Given the description of an element on the screen output the (x, y) to click on. 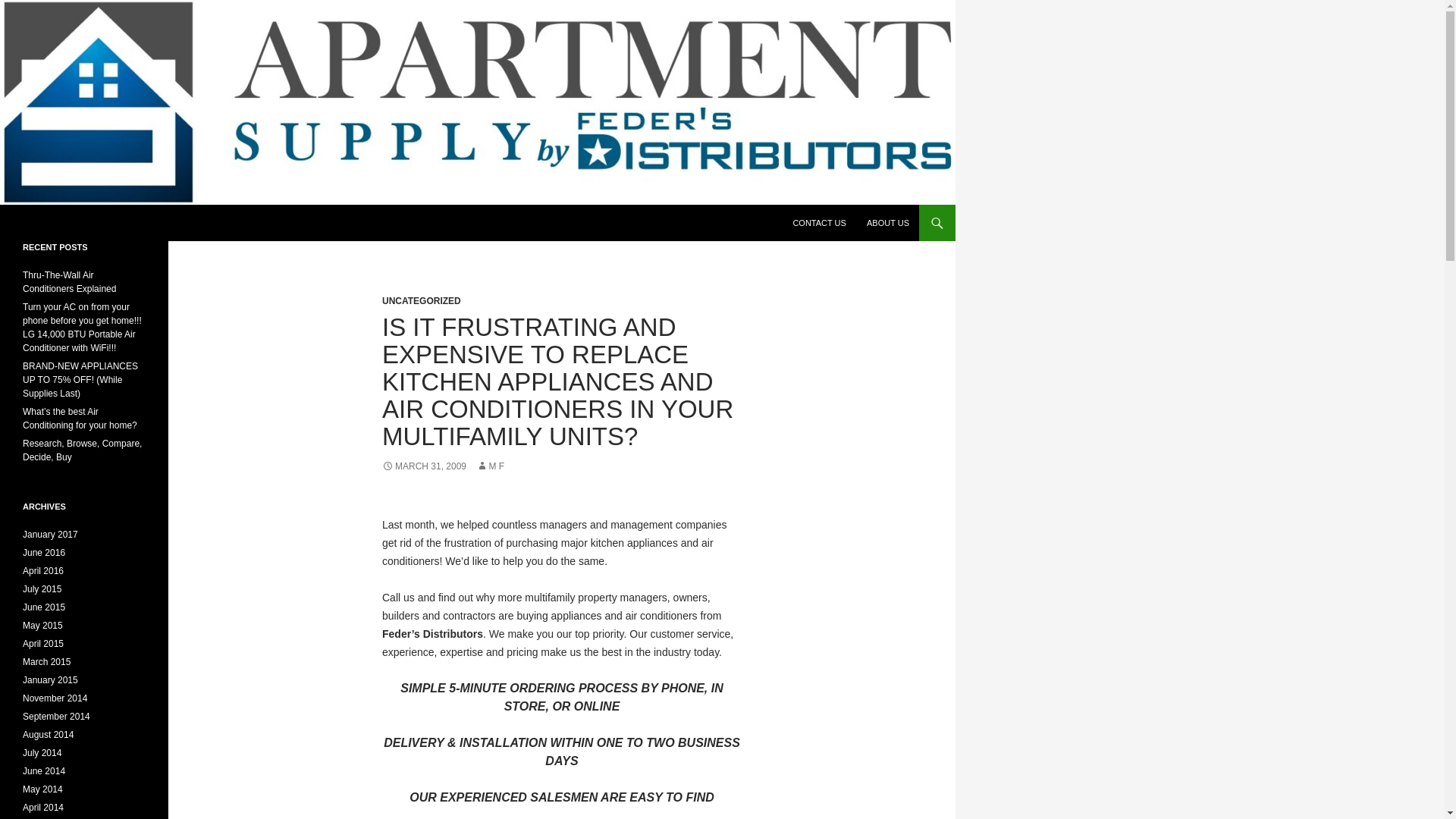
Thru-The-Wall Air Conditioners Explained (69, 282)
April 2015 (43, 643)
M F (489, 466)
May 2015 (42, 624)
June 2016 (44, 552)
July 2014 (42, 752)
CONTACT US (819, 222)
January 2017 (50, 534)
June 2015 (44, 606)
March 2015 (46, 661)
MARCH 31, 2009 (423, 466)
September 2014 (56, 716)
Research, Browse, Compare, Decide, Buy (82, 450)
